Given the description of an element on the screen output the (x, y) to click on. 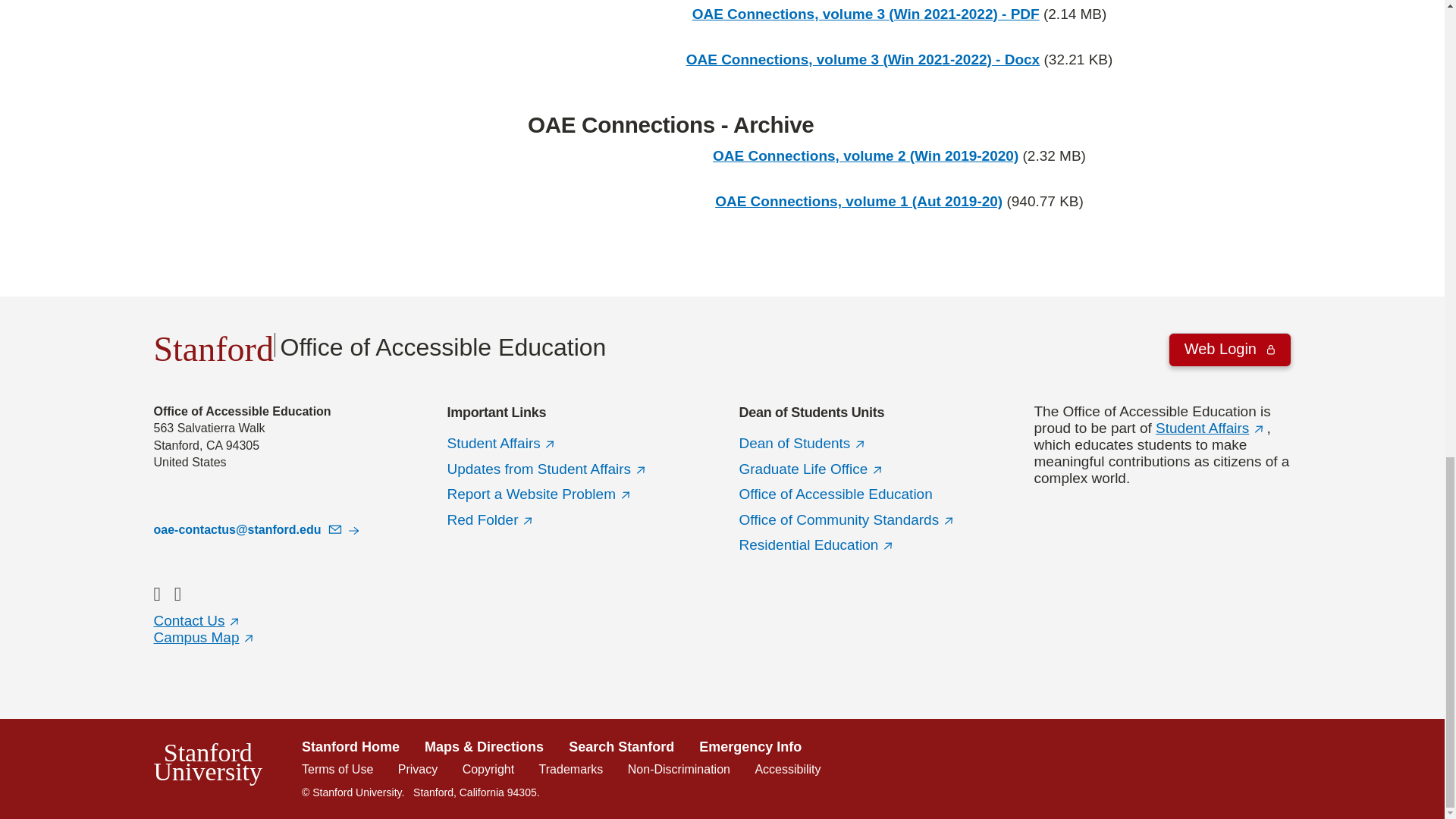
Privacy and cookie policy (417, 768)
Report alleged copyright infringement (488, 768)
Terms of use for sites (336, 768)
Ownership and use of Stanford trademarks and images (571, 768)
